Given the description of an element on the screen output the (x, y) to click on. 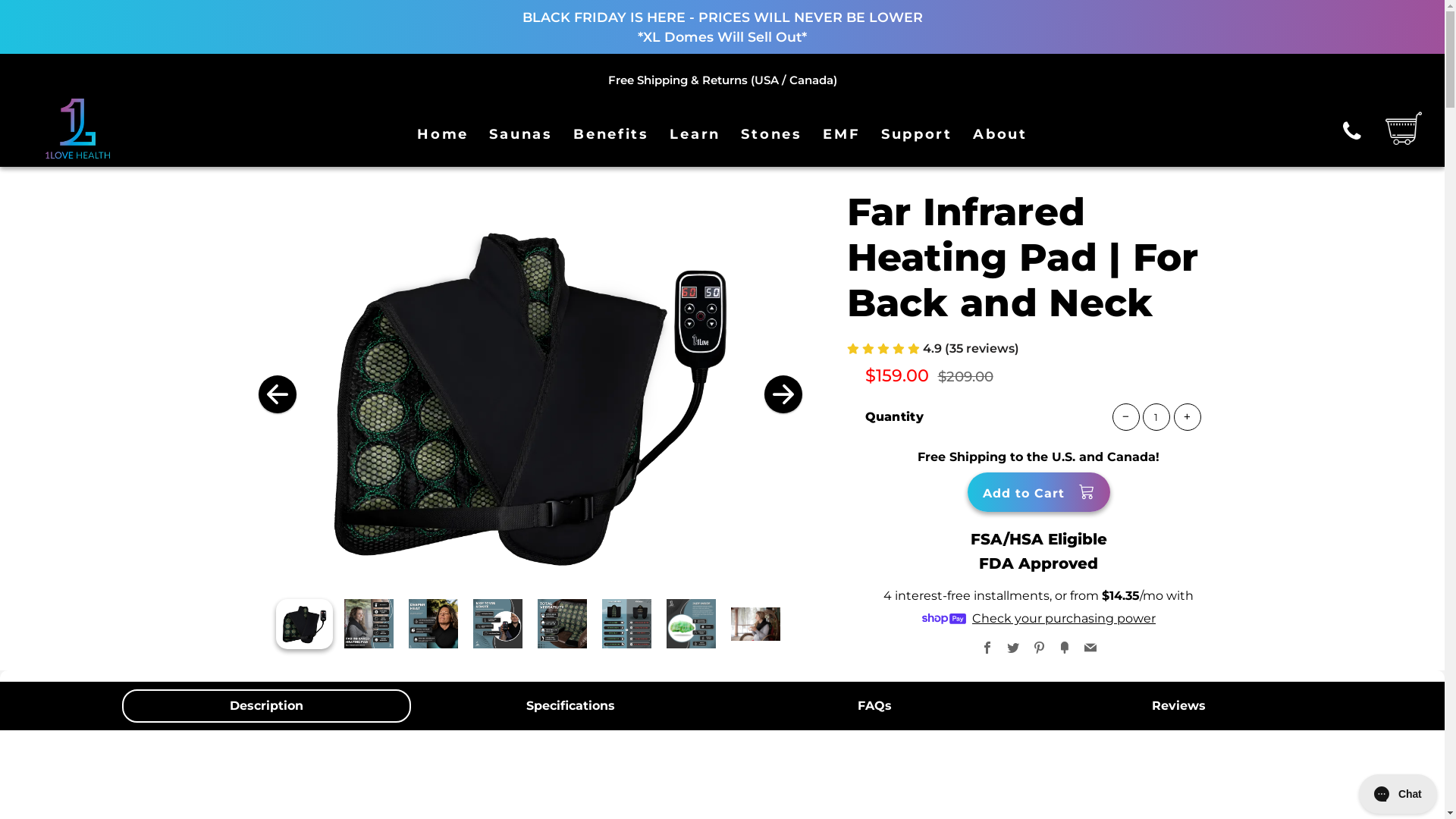
Specifications Element type: text (570, 705)
0 Element type: text (304, 623)
Fancy Element type: text (1064, 648)
Cart Element type: text (1394, 127)
Benefits Element type: text (611, 134)
0 Element type: text (561, 623)
0 Element type: text (755, 623)
0 Element type: text (497, 623)
0 Element type: text (368, 623)
Home Element type: text (442, 134)
Saunas Element type: text (520, 134)
Learn Element type: text (694, 134)
Reviews Element type: text (1178, 705)
Facebook Element type: text (987, 648)
EMF Element type: text (840, 134)
Twitter Element type: text (1013, 648)
Pinterest Element type: text (1038, 648)
Email Element type: text (1090, 648)
Add to Cart Element type: text (1038, 491)
Support Element type: text (916, 134)
0 Element type: text (690, 623)
FAQs Element type: text (873, 705)
About Element type: text (999, 134)
Stones Element type: text (770, 134)
Description Element type: text (265, 705)
0 Element type: text (626, 623)
0 Element type: text (432, 623)
+
Increase item quantity by one Element type: text (1187, 416)
